Given the description of an element on the screen output the (x, y) to click on. 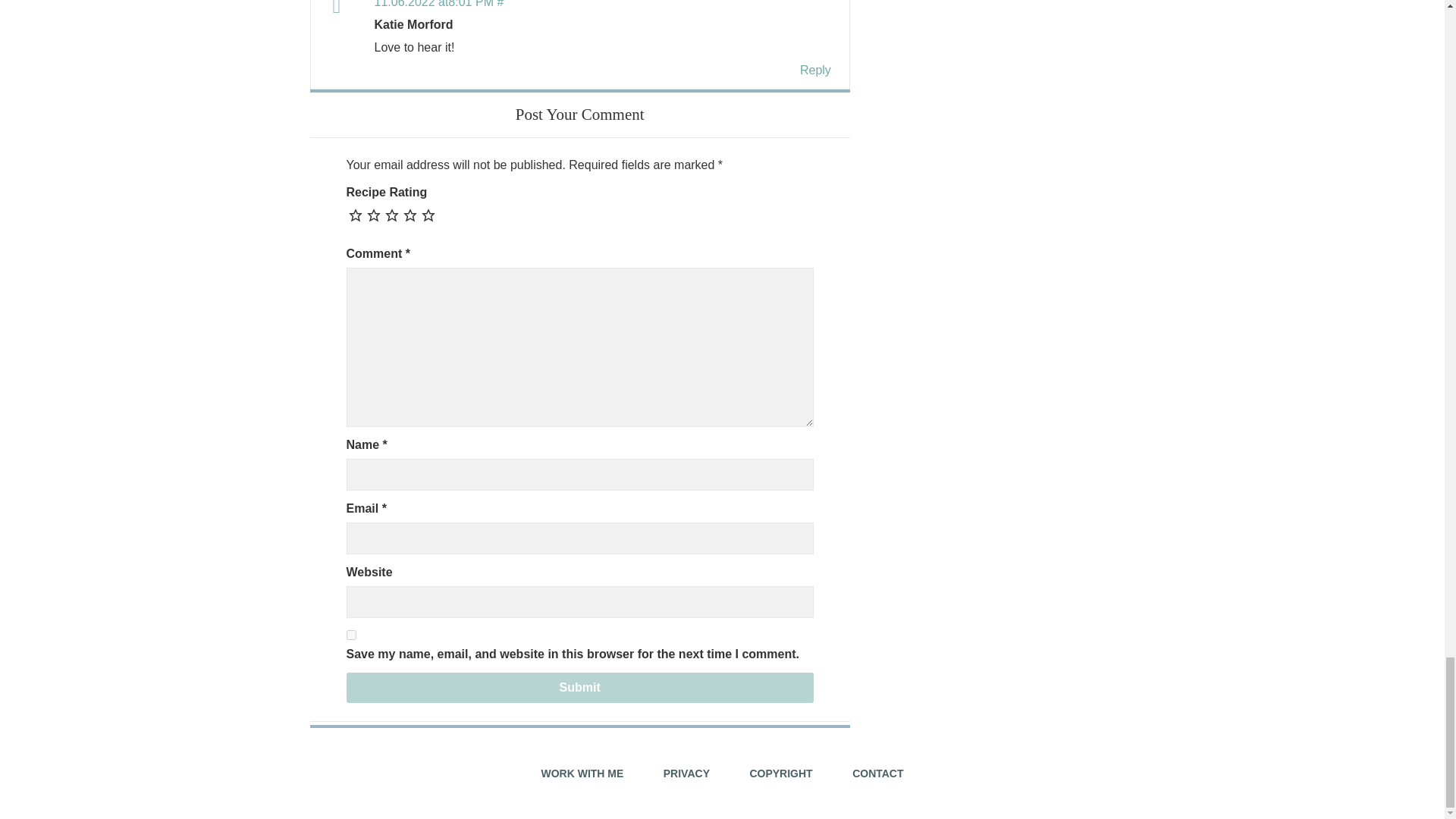
yes (350, 634)
Direct link to this comment (438, 4)
Submit (579, 687)
Reply (815, 69)
Submit (579, 687)
